Given the description of an element on the screen output the (x, y) to click on. 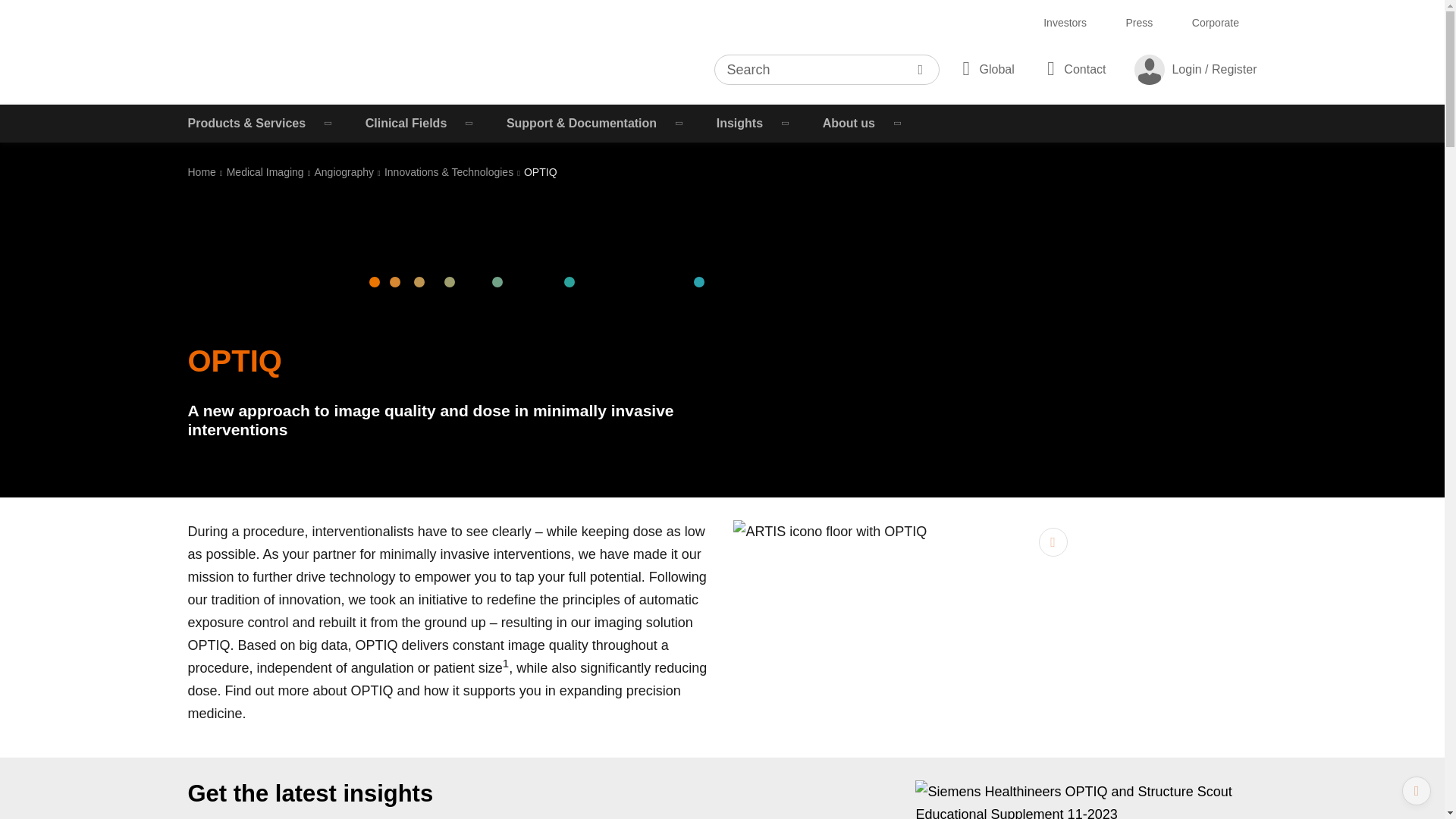
Press (1139, 22)
Zoom (1053, 541)
Clinical Fields (421, 123)
Contact (1073, 69)
Home (201, 172)
Global (985, 69)
Medical Imaging (265, 172)
Insights (754, 123)
Corporate (1215, 22)
About us (864, 123)
